Given the description of an element on the screen output the (x, y) to click on. 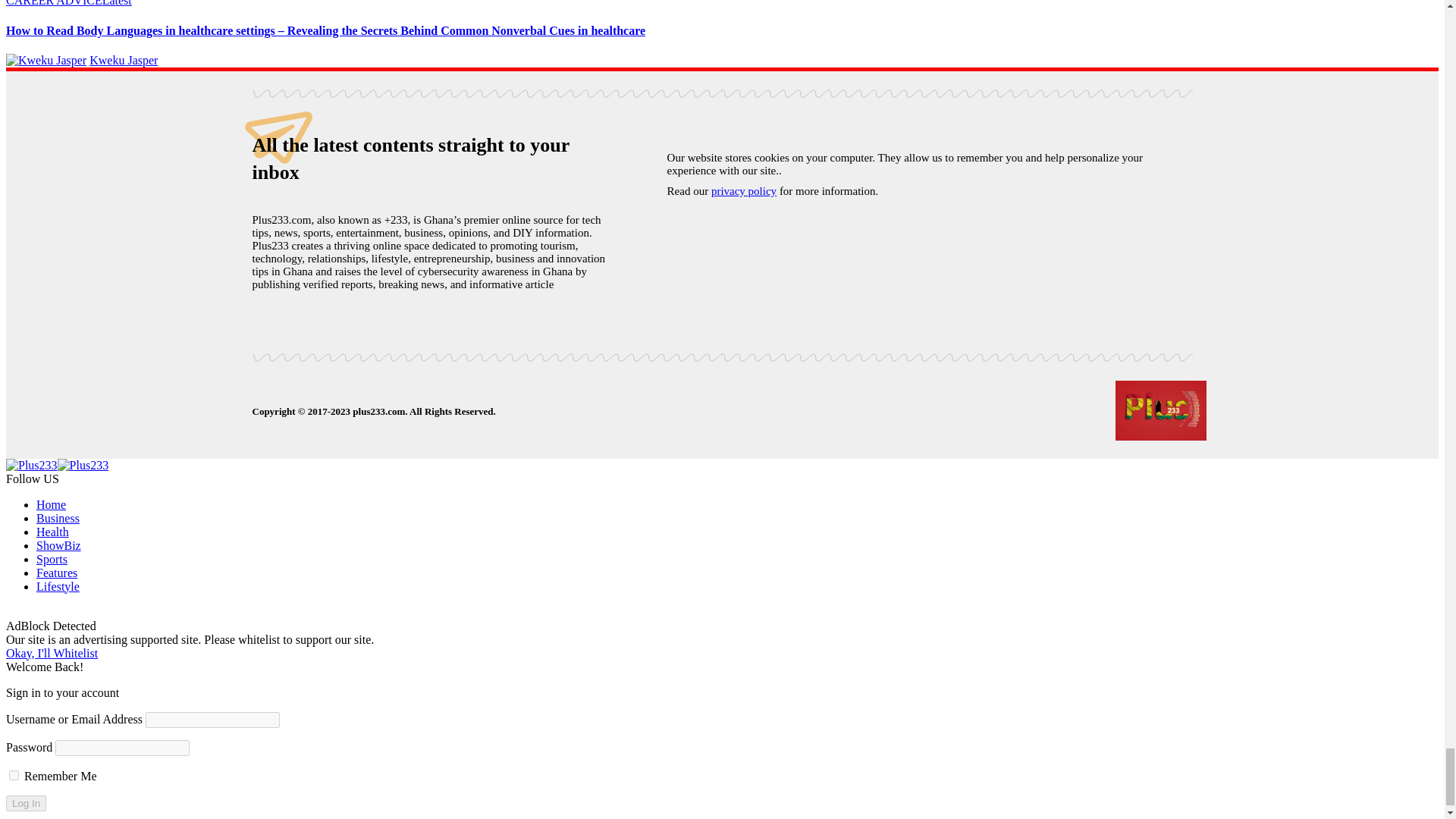
forever (13, 775)
Plus233 (56, 464)
Log In (25, 803)
